Given the description of an element on the screen output the (x, y) to click on. 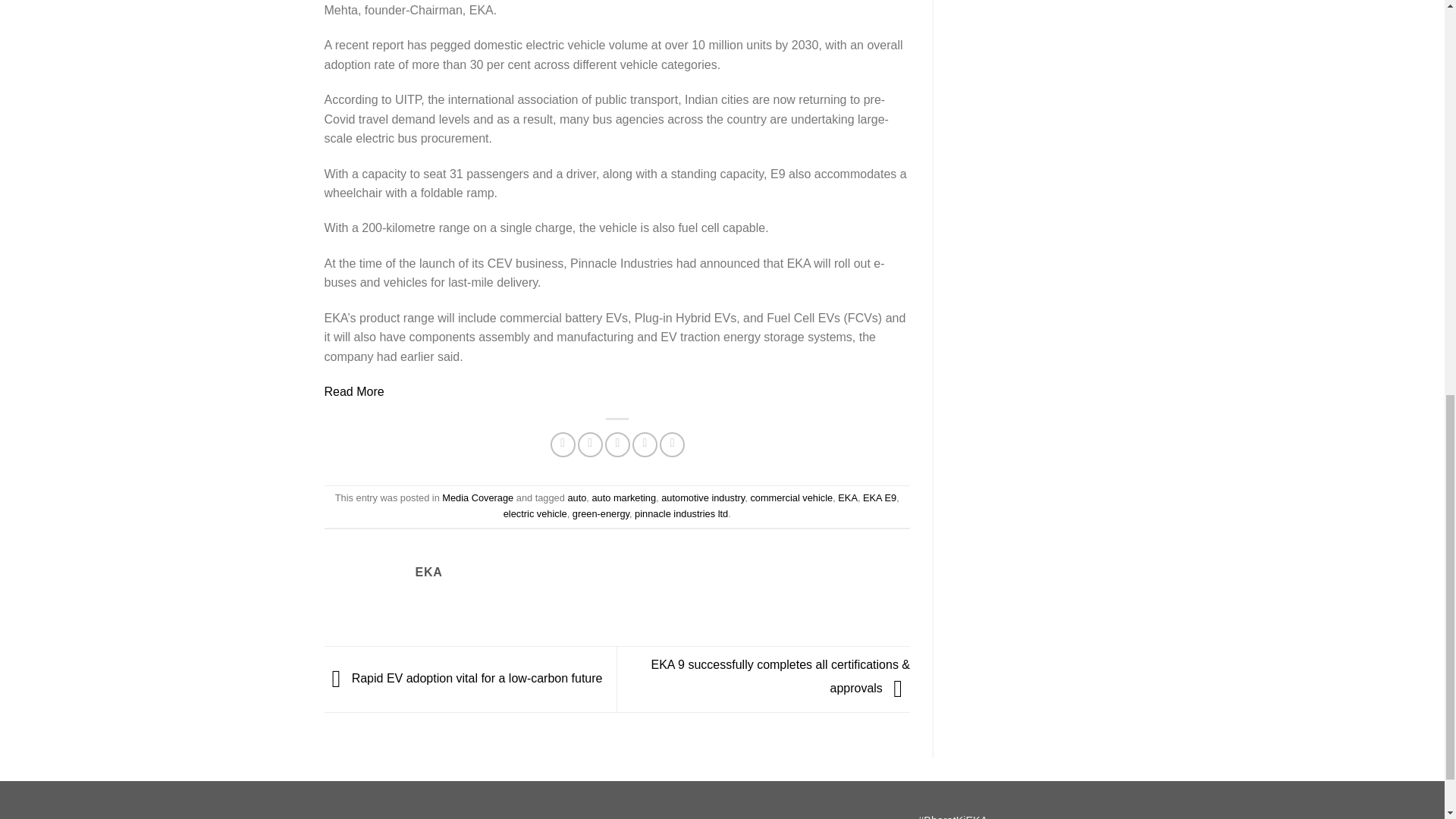
Email to a Friend (617, 444)
automotive industry (702, 497)
EKA E9 (879, 497)
Media Coverage (477, 497)
commercial vehicle (790, 497)
Read More (354, 391)
green-energy (600, 513)
Share on Twitter (590, 444)
electric vehicle (535, 513)
auto marketing (623, 497)
pinnacle industries ltd (681, 513)
Pin on Pinterest (644, 444)
Rapid EV adoption vital for a low-carbon future (463, 677)
Share on LinkedIn (671, 444)
Share on Facebook (562, 444)
